Given the description of an element on the screen output the (x, y) to click on. 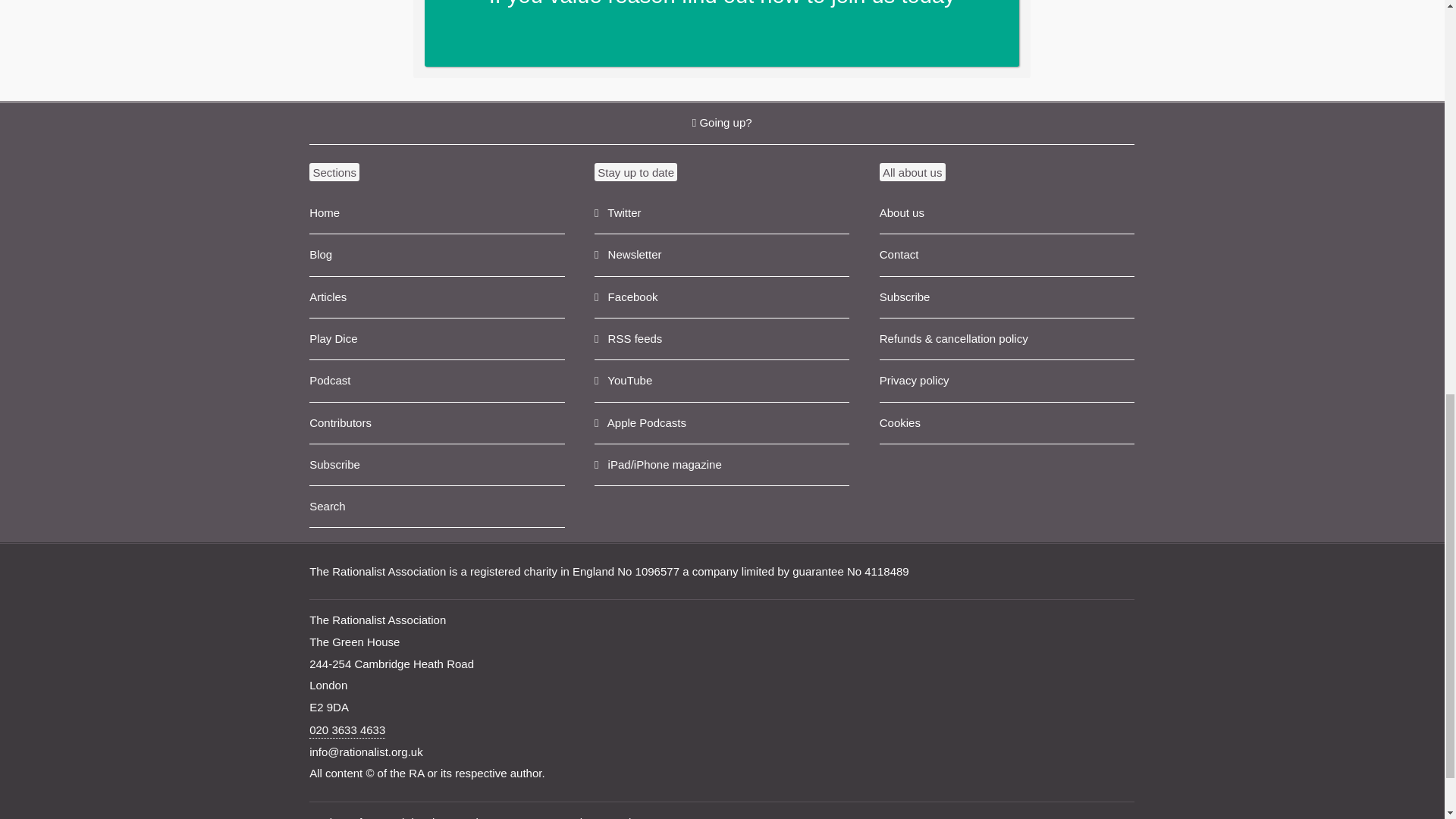
Subscribe (436, 465)
Newsletter (721, 255)
Search (436, 506)
SimplicityWeb (678, 817)
Twitter (721, 213)
Contact (1006, 255)
Cookies (1006, 423)
Articles (436, 297)
If you value reason find out how to join us today (722, 33)
YouTube (721, 381)
About us (1006, 213)
Podcast (436, 381)
Contributors (436, 423)
Blog (436, 255)
Privacy policy (1006, 381)
